Given the description of an element on the screen output the (x, y) to click on. 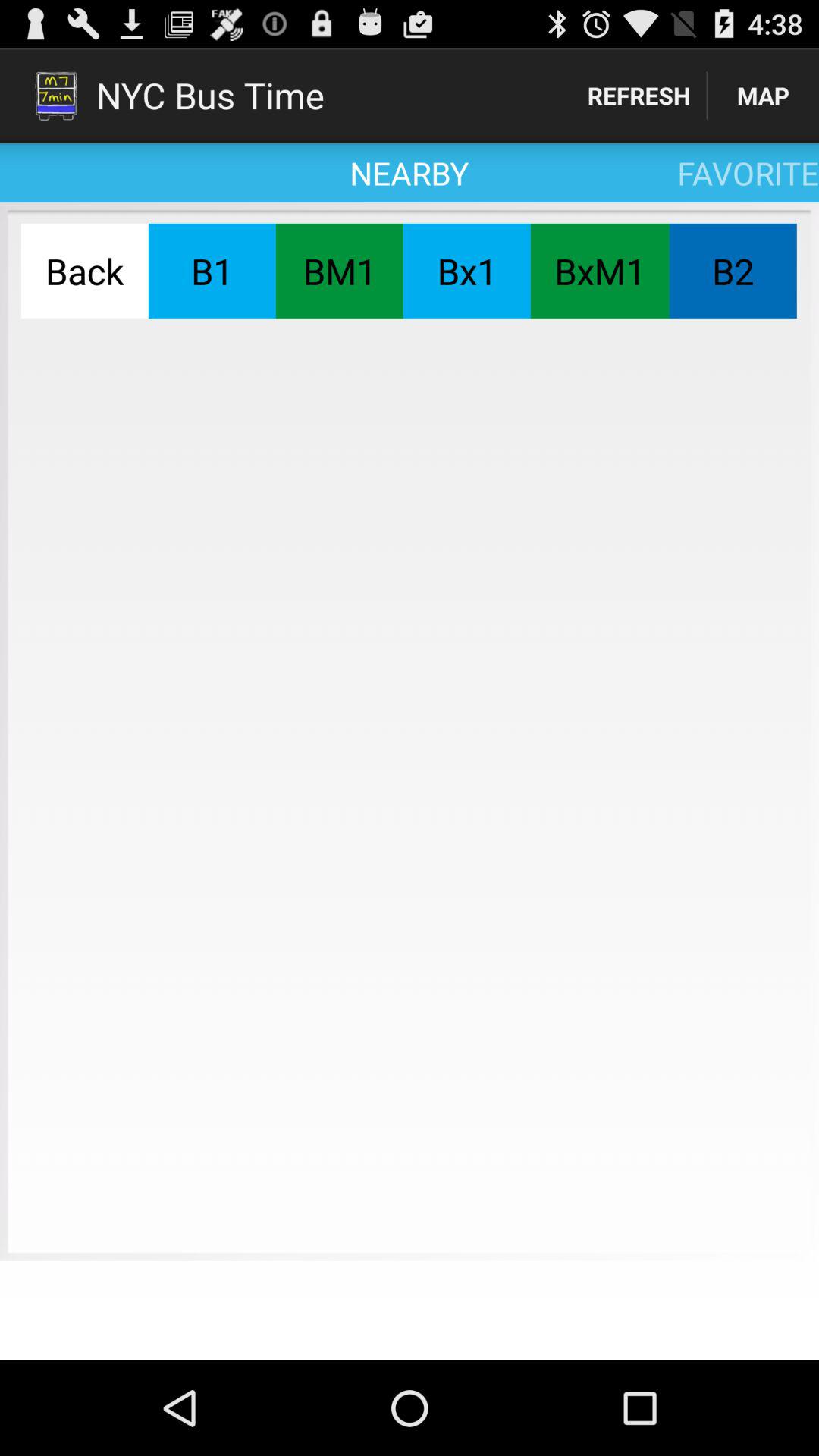
turn off the button to the left of the bx1 (339, 271)
